Given the description of an element on the screen output the (x, y) to click on. 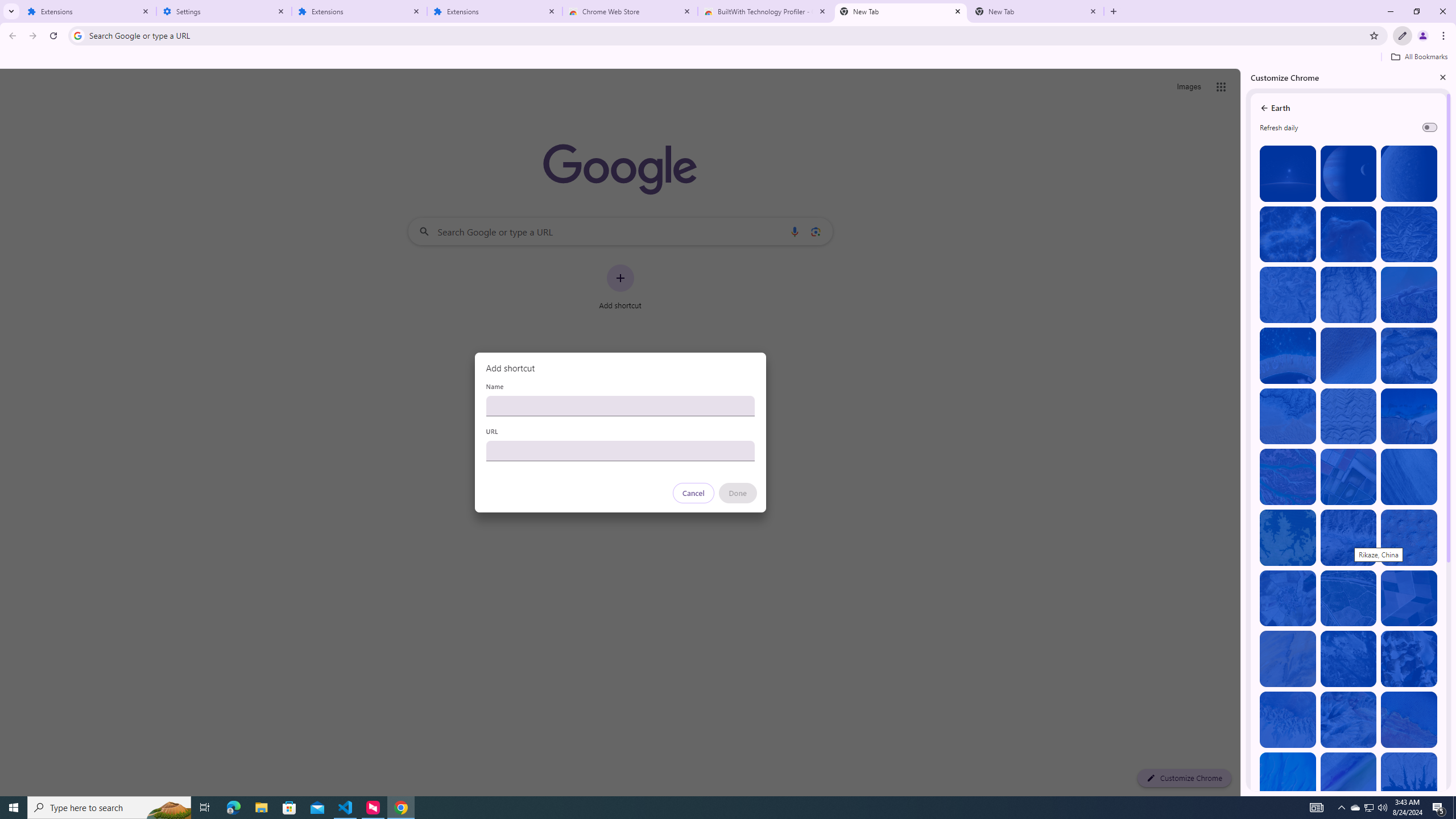
New Tab (1036, 11)
Libya (1408, 719)
The Tuamotu and Gambier Islands, French Polynesia (1287, 355)
Cancel (693, 493)
Iceland (1408, 476)
Qesm Al Wahat Ad Dakhlah, Egypt (1287, 719)
Utrera, Spain (1408, 598)
Ouargla, Algeria (1408, 537)
Rikaze, China (1348, 537)
Dekese, DR Congo (1287, 537)
Refresh daily (1429, 126)
Al Jabal al Akhdar, Libya (1408, 416)
Sanaag, Somalia (1348, 294)
